Given the description of an element on the screen output the (x, y) to click on. 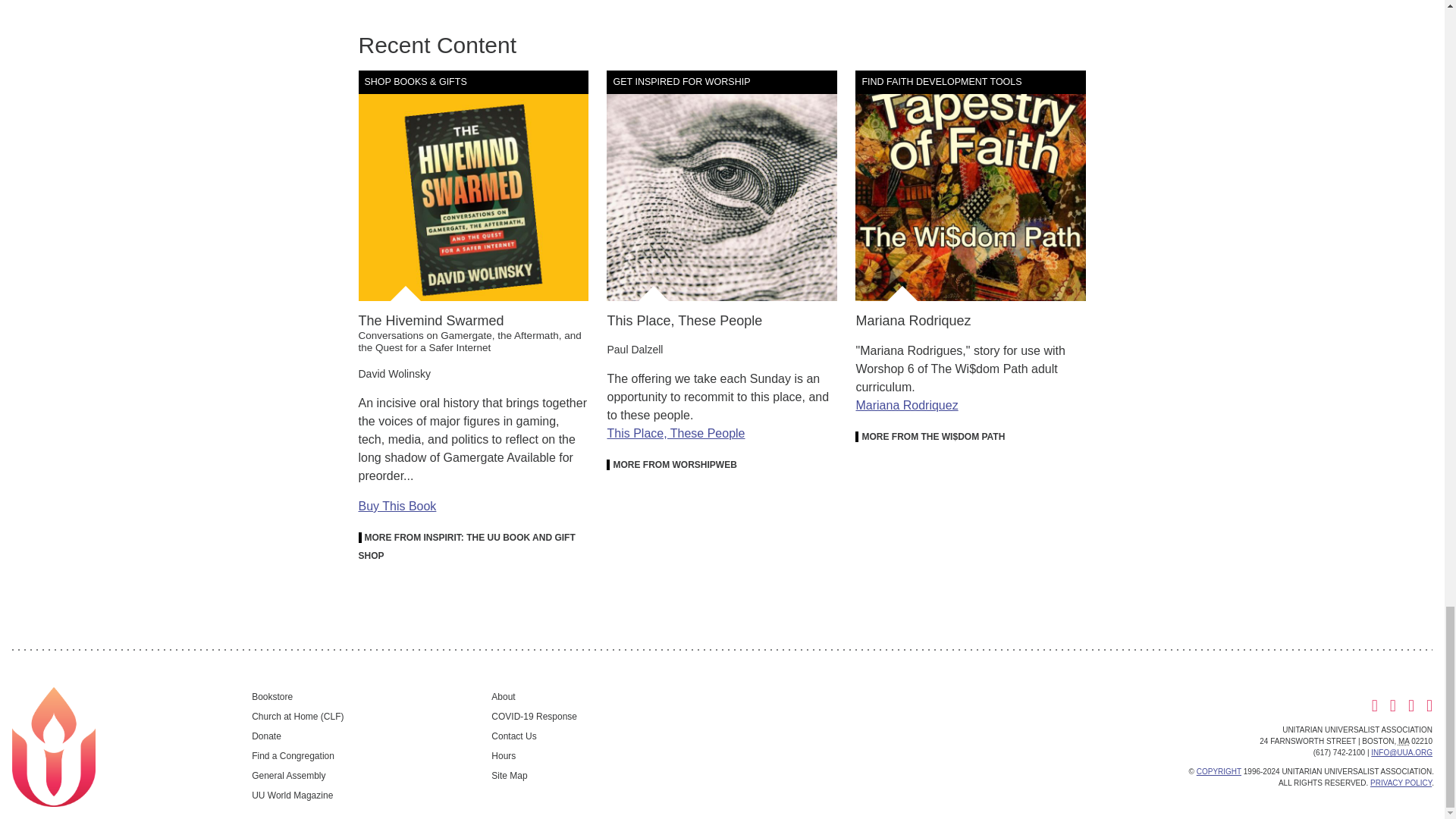
Photo by Vladislav Reshetnyak on pexels.com (722, 185)
